Given the description of an element on the screen output the (x, y) to click on. 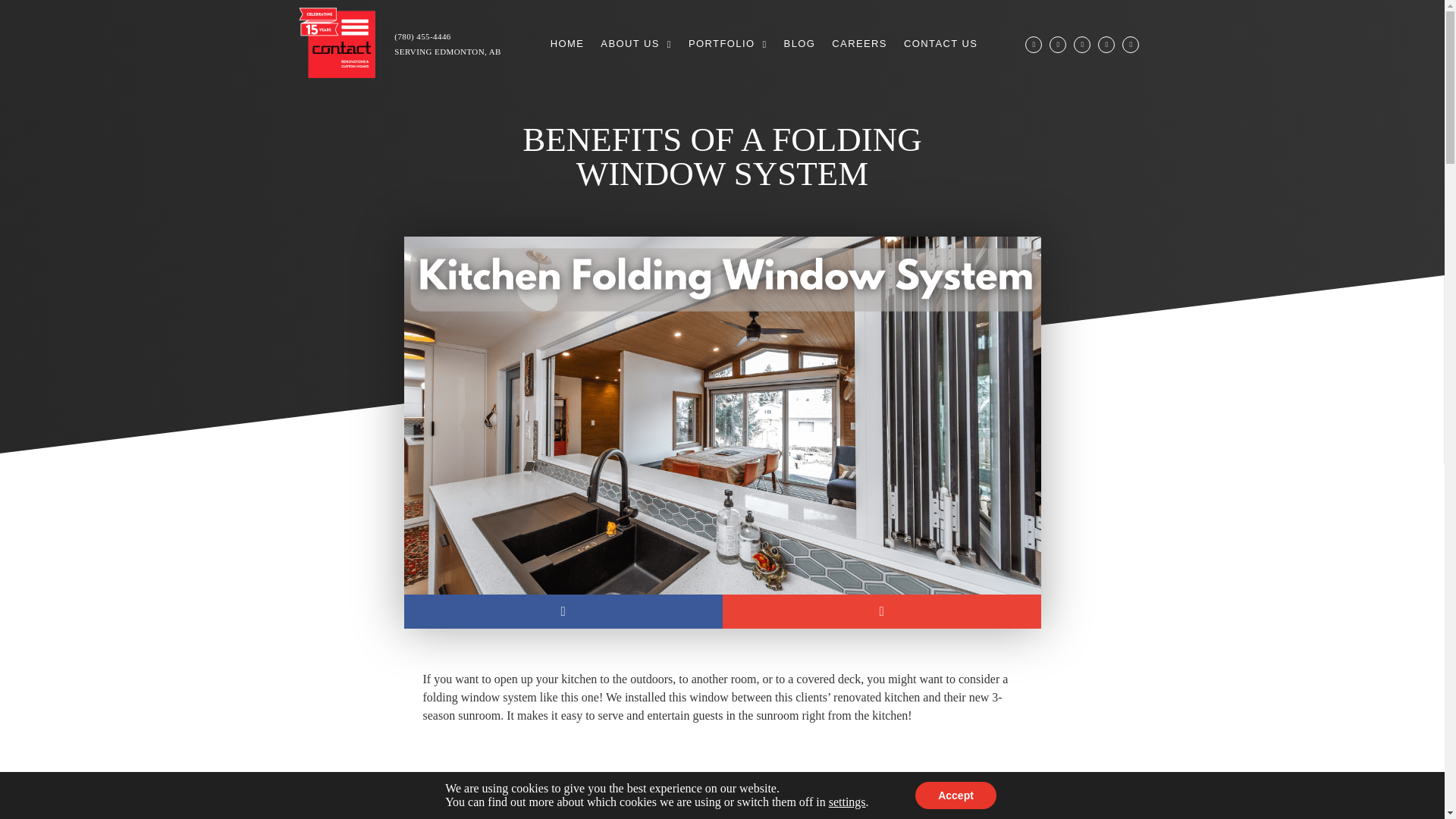
PORTFOLIO (727, 43)
BLOG (800, 43)
HOME (566, 43)
CAREERS (859, 43)
ABOUT US (635, 43)
CONTACT US (940, 43)
